Given the description of an element on the screen output the (x, y) to click on. 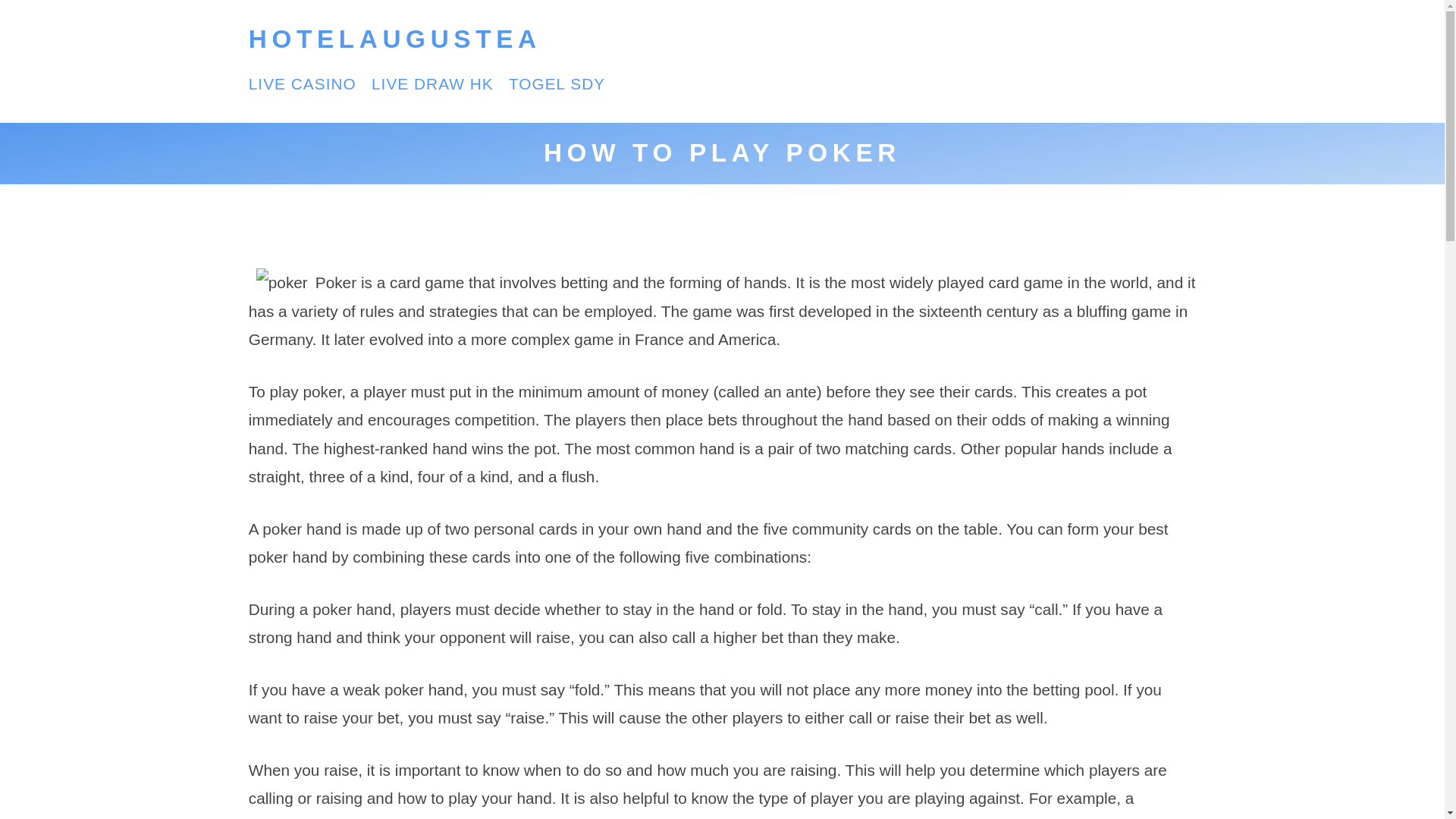
LIVE CASINO (302, 83)
TOGEL SDY (556, 83)
LIVE DRAW HK (432, 83)
HOTELAUGUSTEA (394, 39)
